Given the description of an element on the screen output the (x, y) to click on. 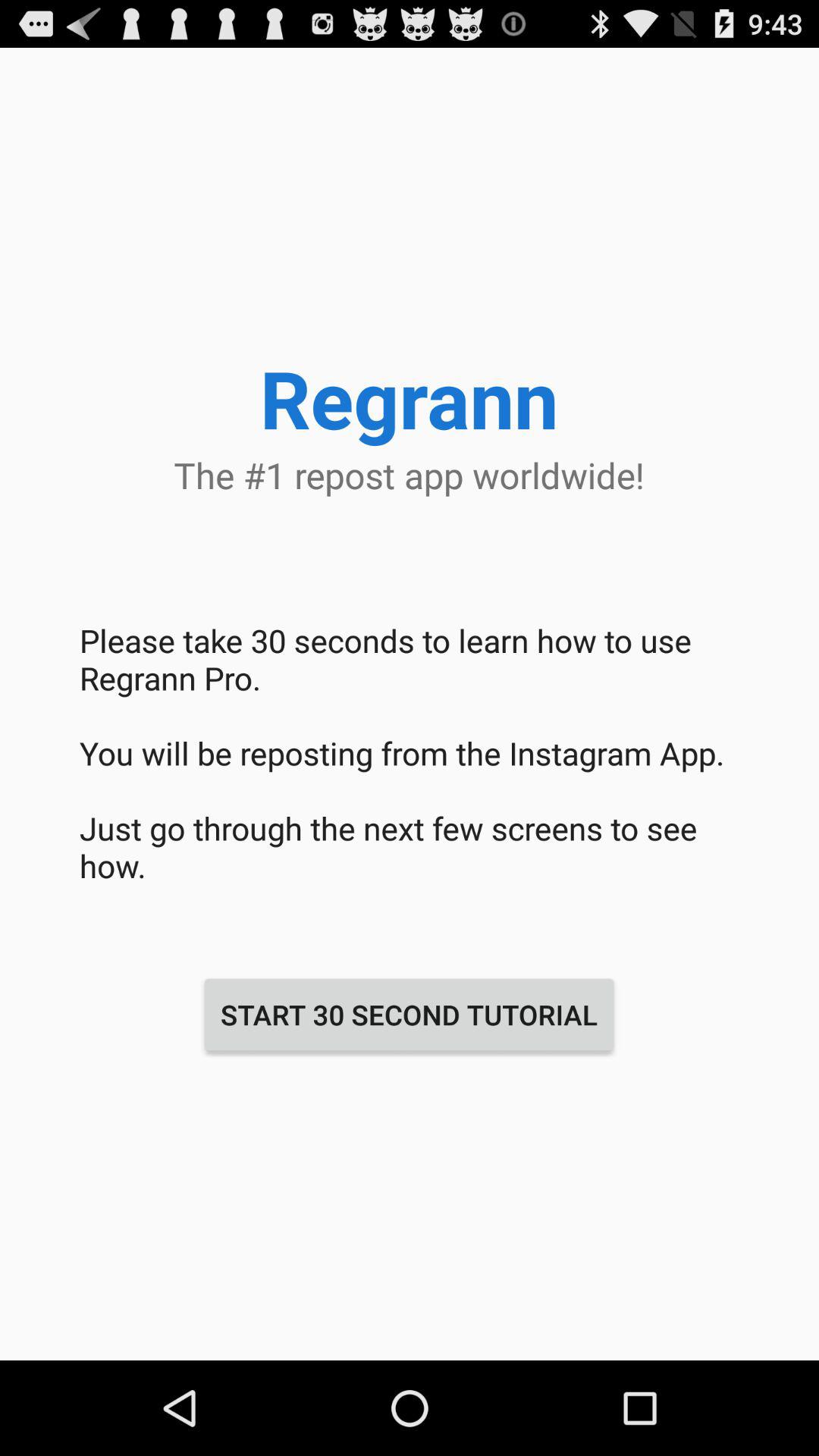
turn on the start 30 second at the bottom (408, 1014)
